Given the description of an element on the screen output the (x, y) to click on. 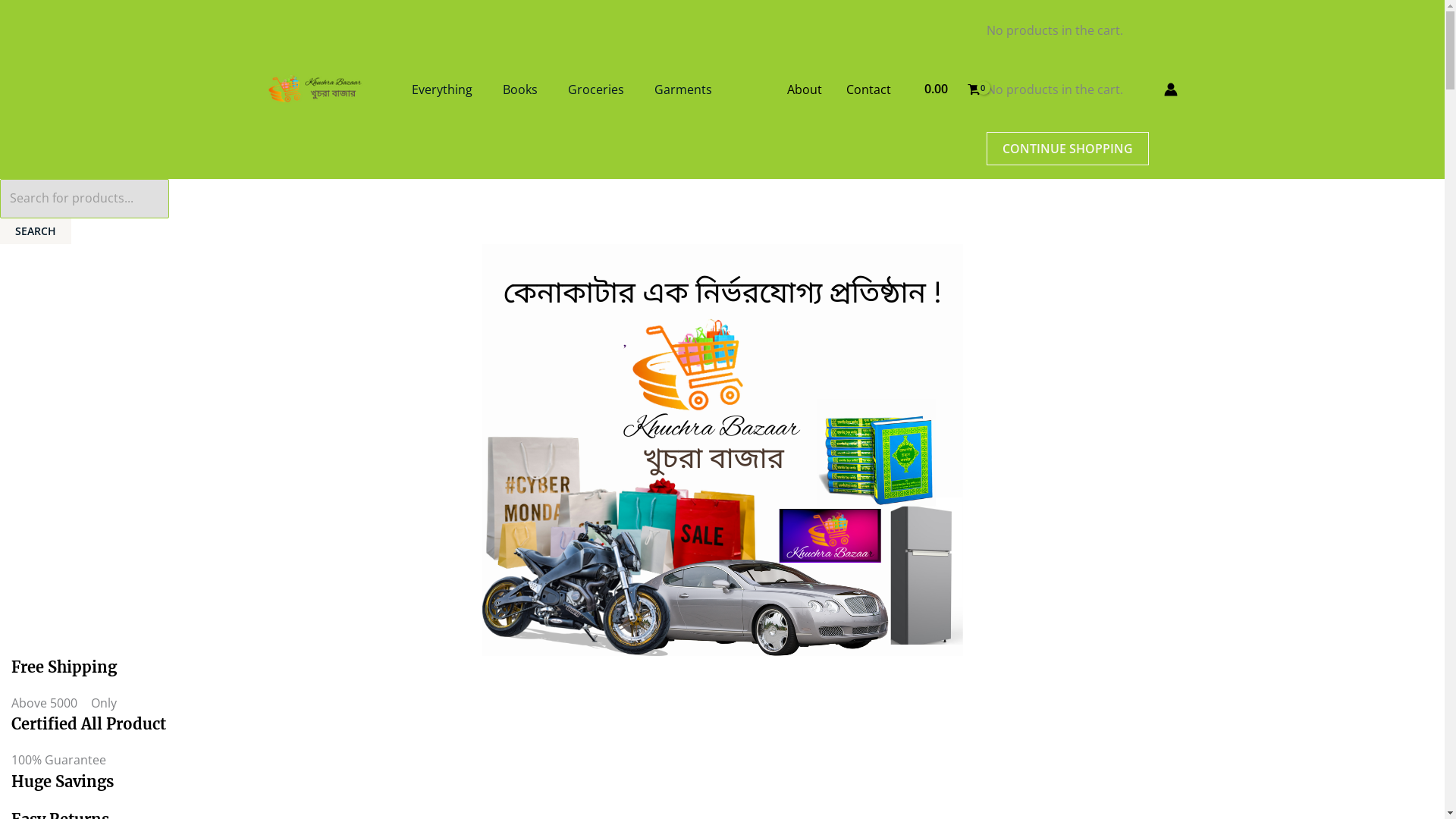
SEARCH Element type: text (35, 231)
Certified All Product Element type: text (88, 723)
Contact Element type: text (868, 89)
About Element type: text (804, 89)
Garments Element type: text (682, 89)
Free Shipping Element type: text (63, 666)
Huge Savings Element type: text (62, 780)
Groceries Element type: text (595, 89)
Books Element type: text (519, 89)
Everything Element type: text (440, 89)
CONTINUE SHOPPING Element type: text (1066, 148)
